Given the description of an element on the screen output the (x, y) to click on. 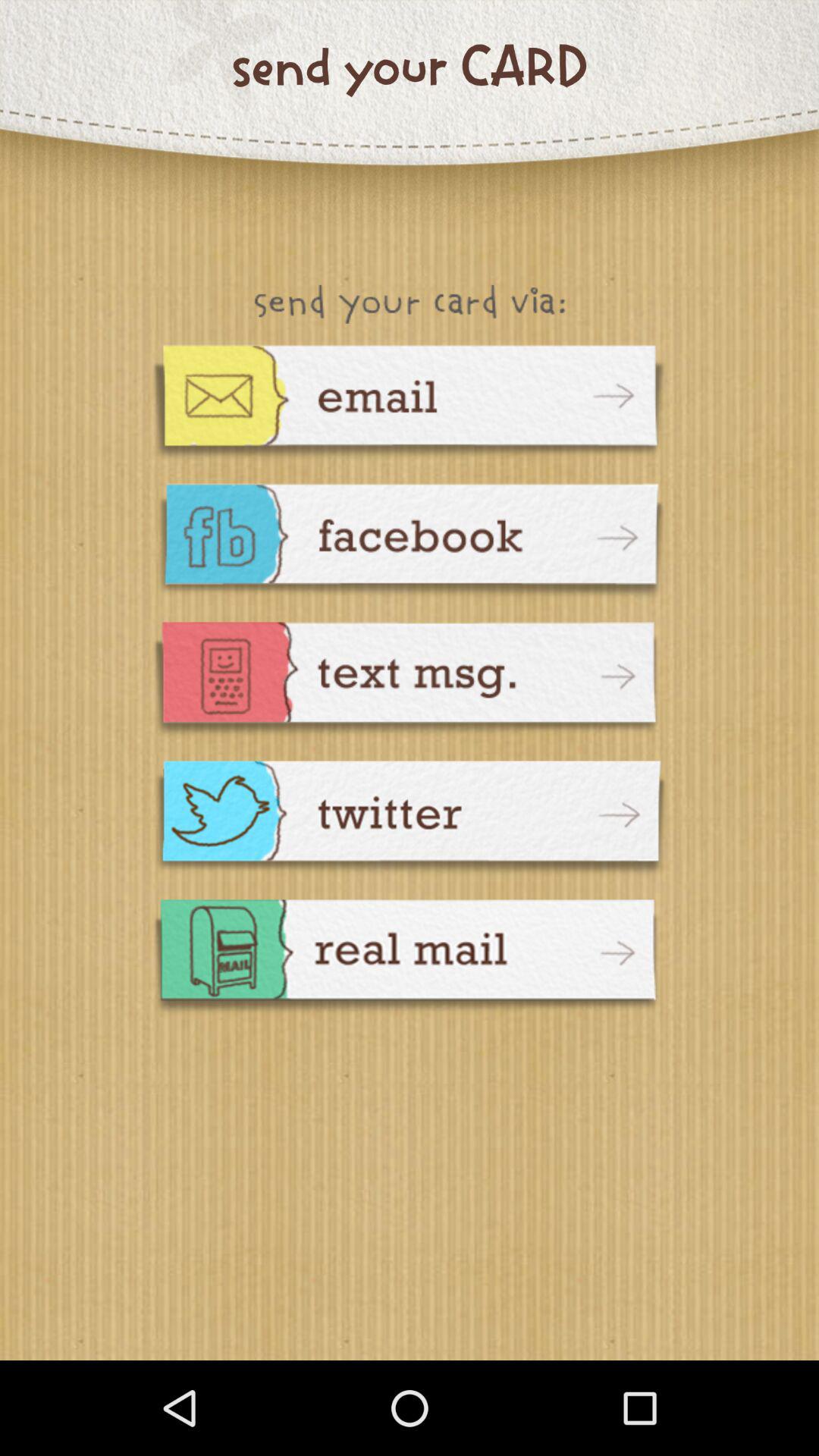
goto facebook (409, 542)
